Given the description of an element on the screen output the (x, y) to click on. 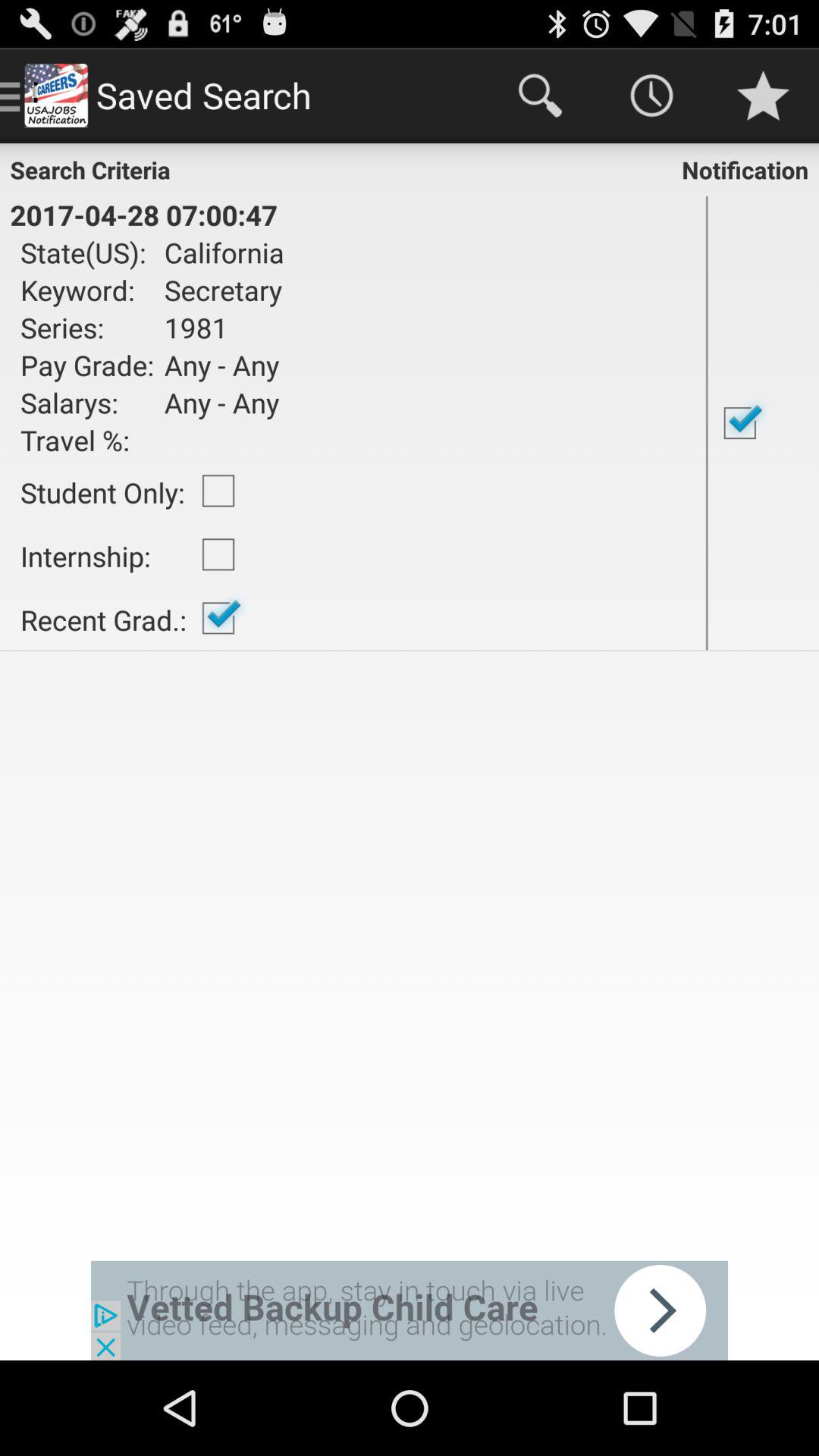
choose the item next to student only: item (218, 490)
